Given the description of an element on the screen output the (x, y) to click on. 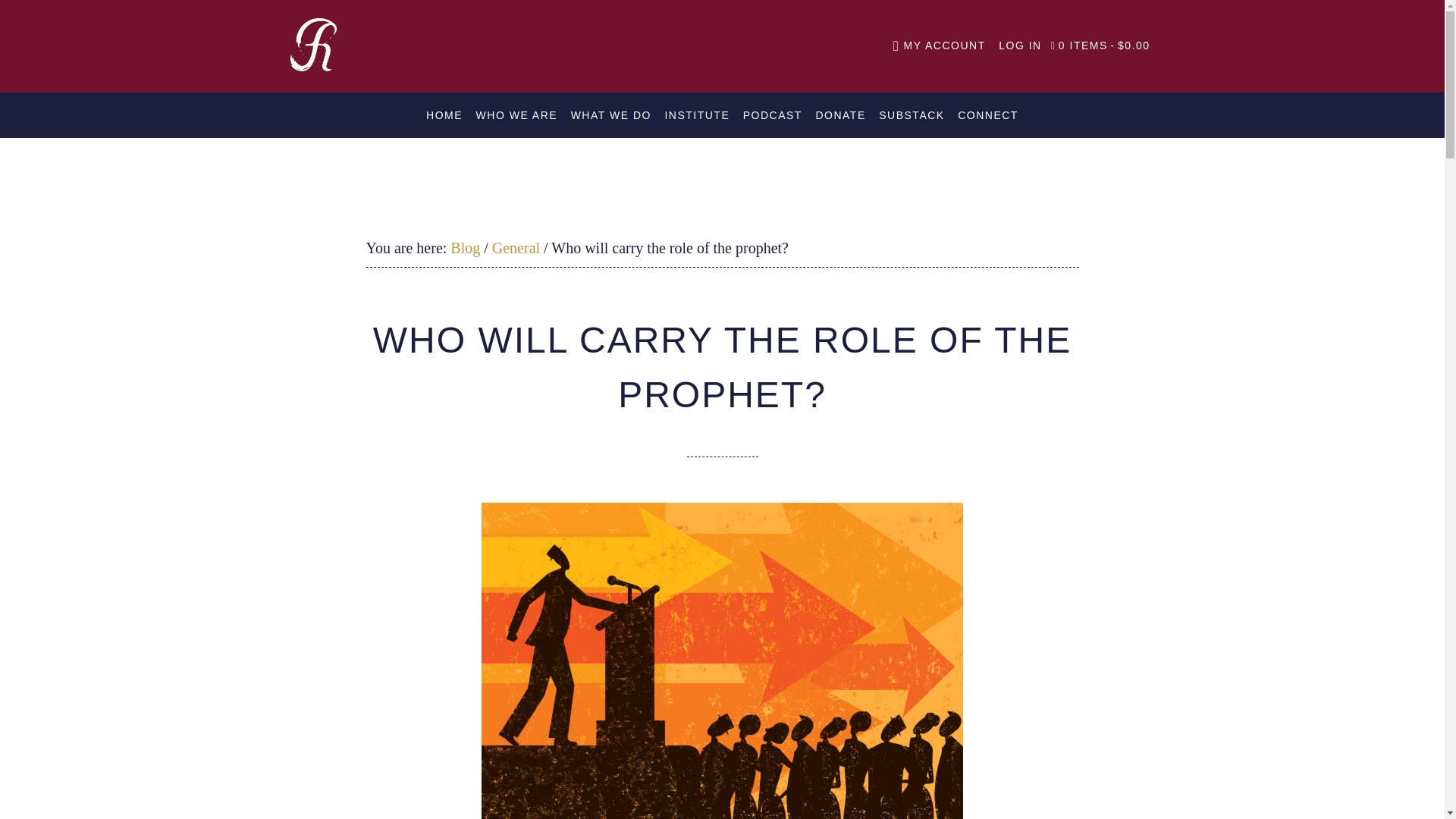
DONATE (839, 115)
WHAT WE DO (611, 115)
Blog (464, 247)
FREEDOMROAD.US (334, 44)
SUBSTACK (912, 115)
WHO WE ARE (516, 115)
CONNECT (988, 115)
HOME (444, 115)
PODCAST (772, 115)
